Given the description of an element on the screen output the (x, y) to click on. 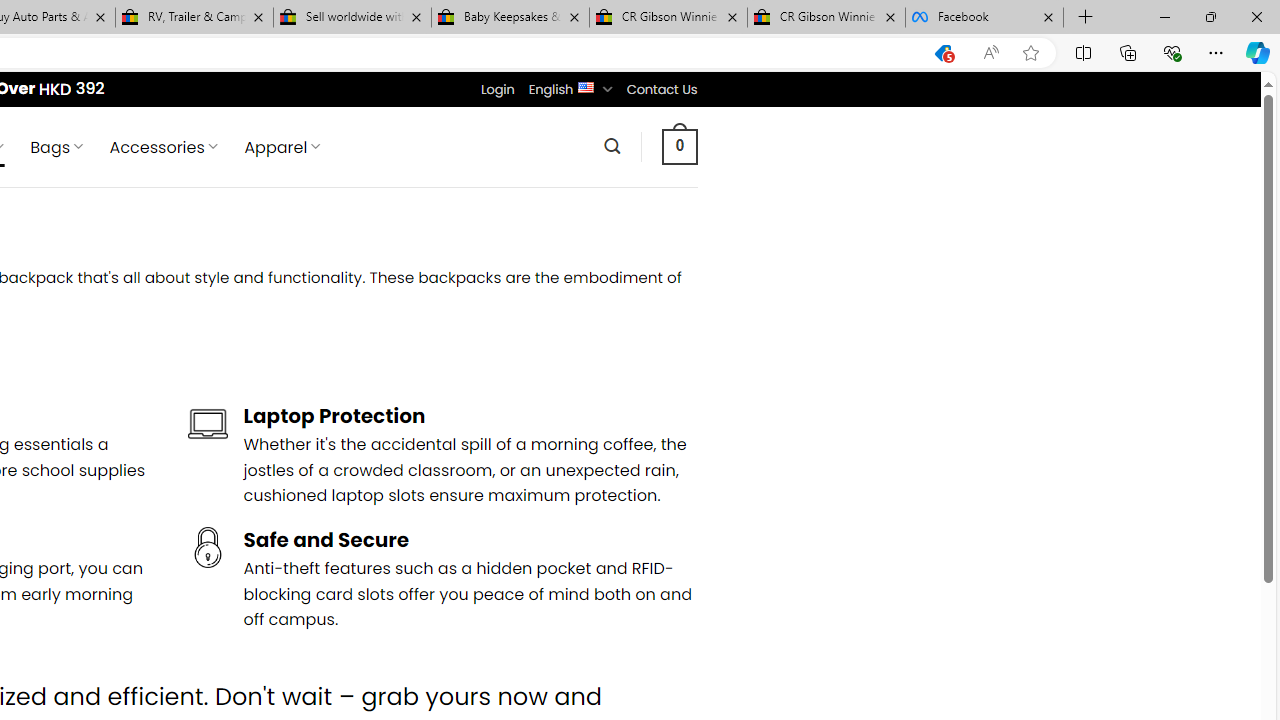
Facebook (984, 17)
RV, Trailer & Camper Steps & Ladders for sale | eBay (194, 17)
 0  (679, 146)
